Given the description of an element on the screen output the (x, y) to click on. 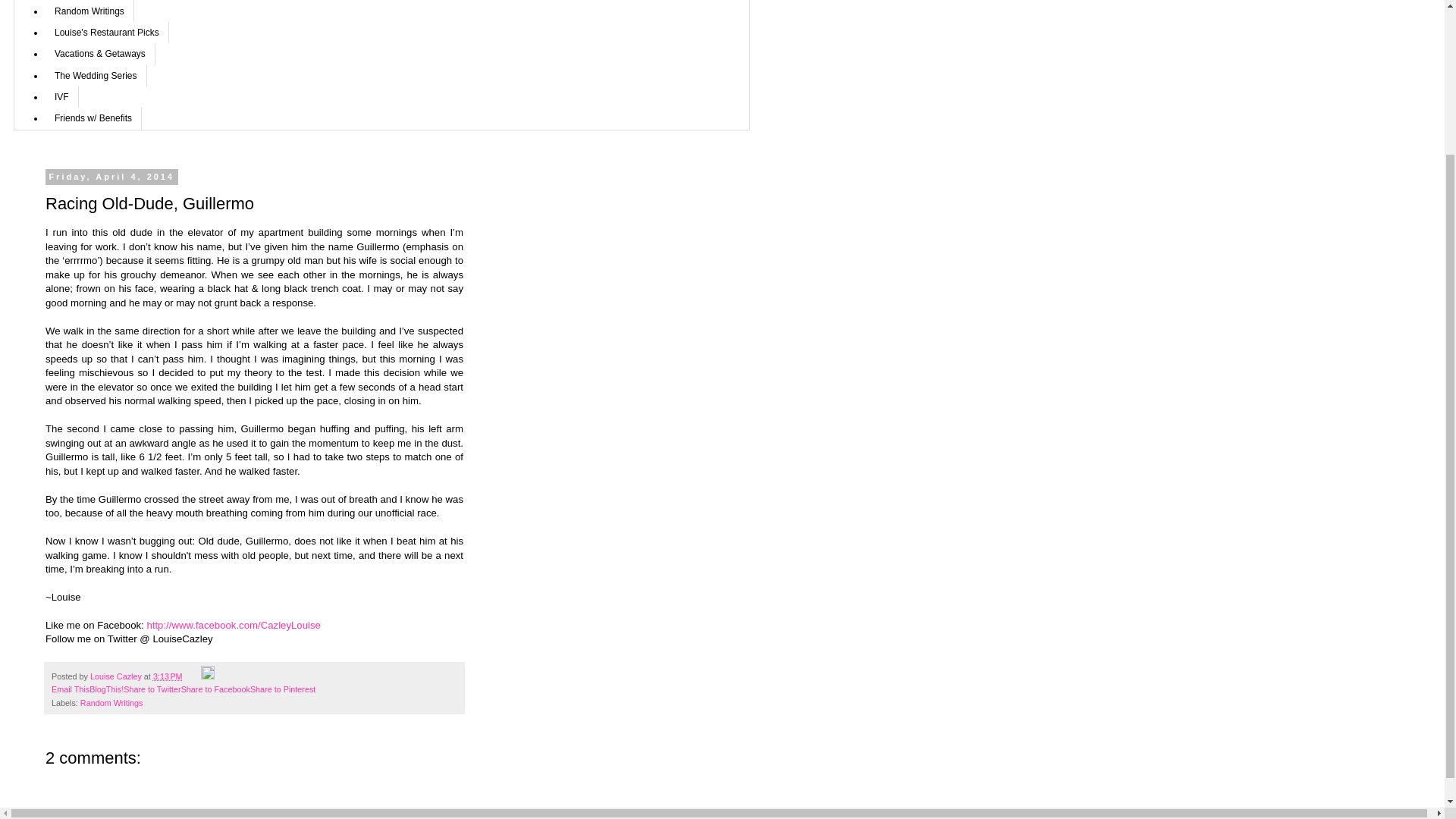
Email Post (192, 675)
Random Writings (89, 10)
Share to Pinterest (282, 688)
BlogThis! (105, 688)
BlogThis! (105, 688)
IVF (61, 96)
permanent link (167, 675)
Email This (69, 688)
Edit Post (207, 675)
Share to Facebook (215, 688)
